Given the description of an element on the screen output the (x, y) to click on. 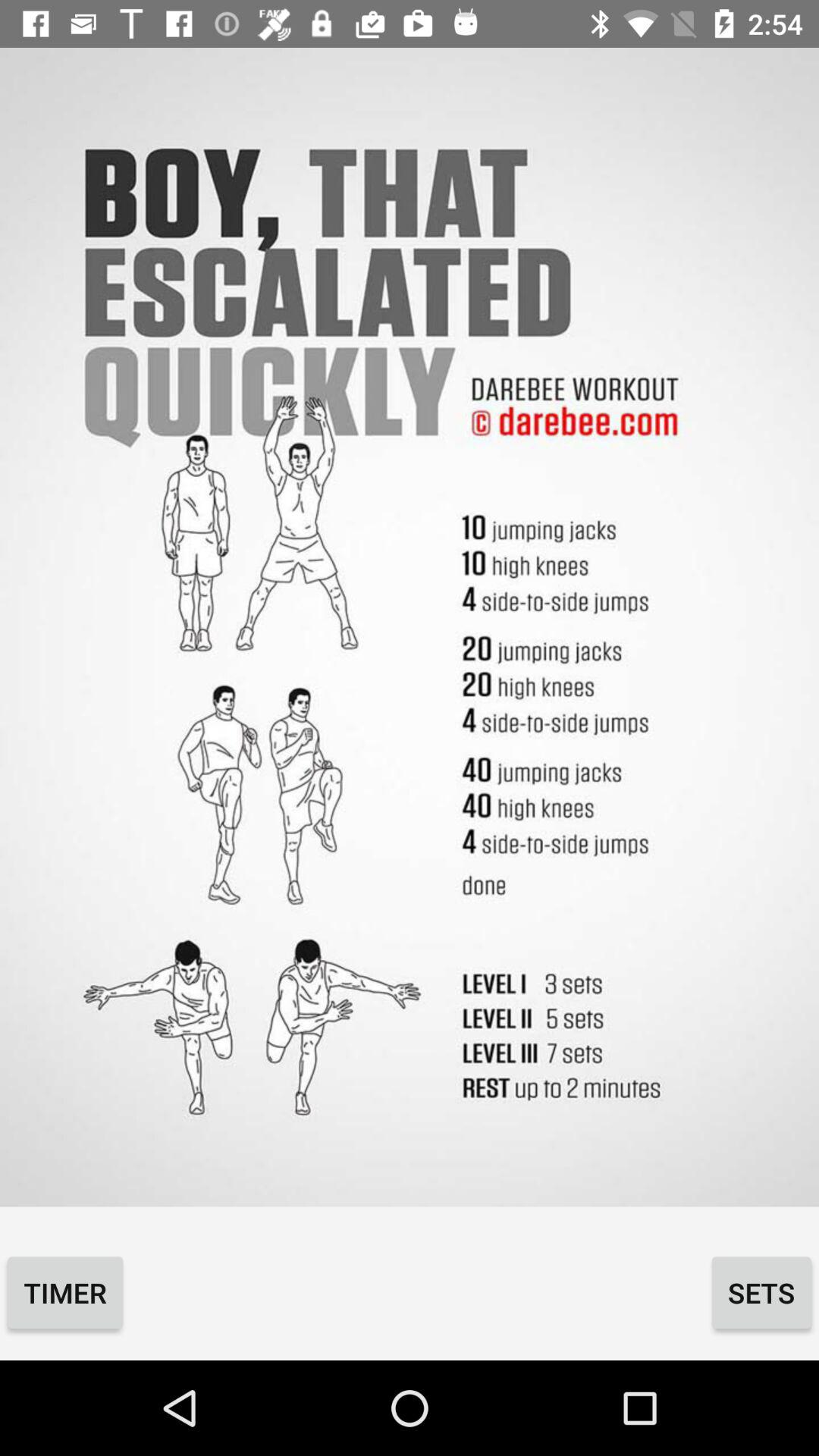
tap the icon to the right of the timer item (761, 1292)
